Given the description of an element on the screen output the (x, y) to click on. 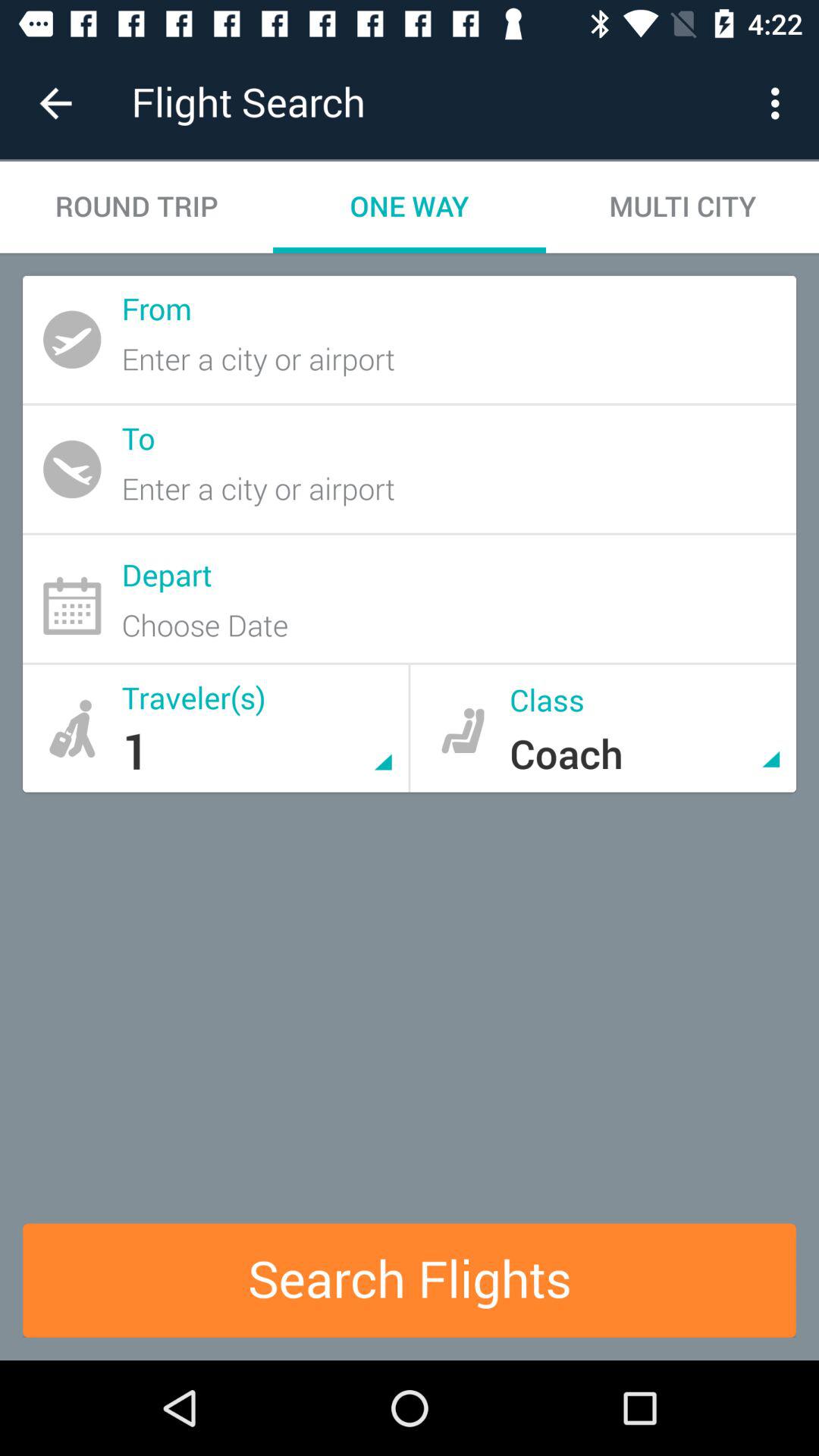
tap the item next to the one way icon (682, 207)
